Given the description of an element on the screen output the (x, y) to click on. 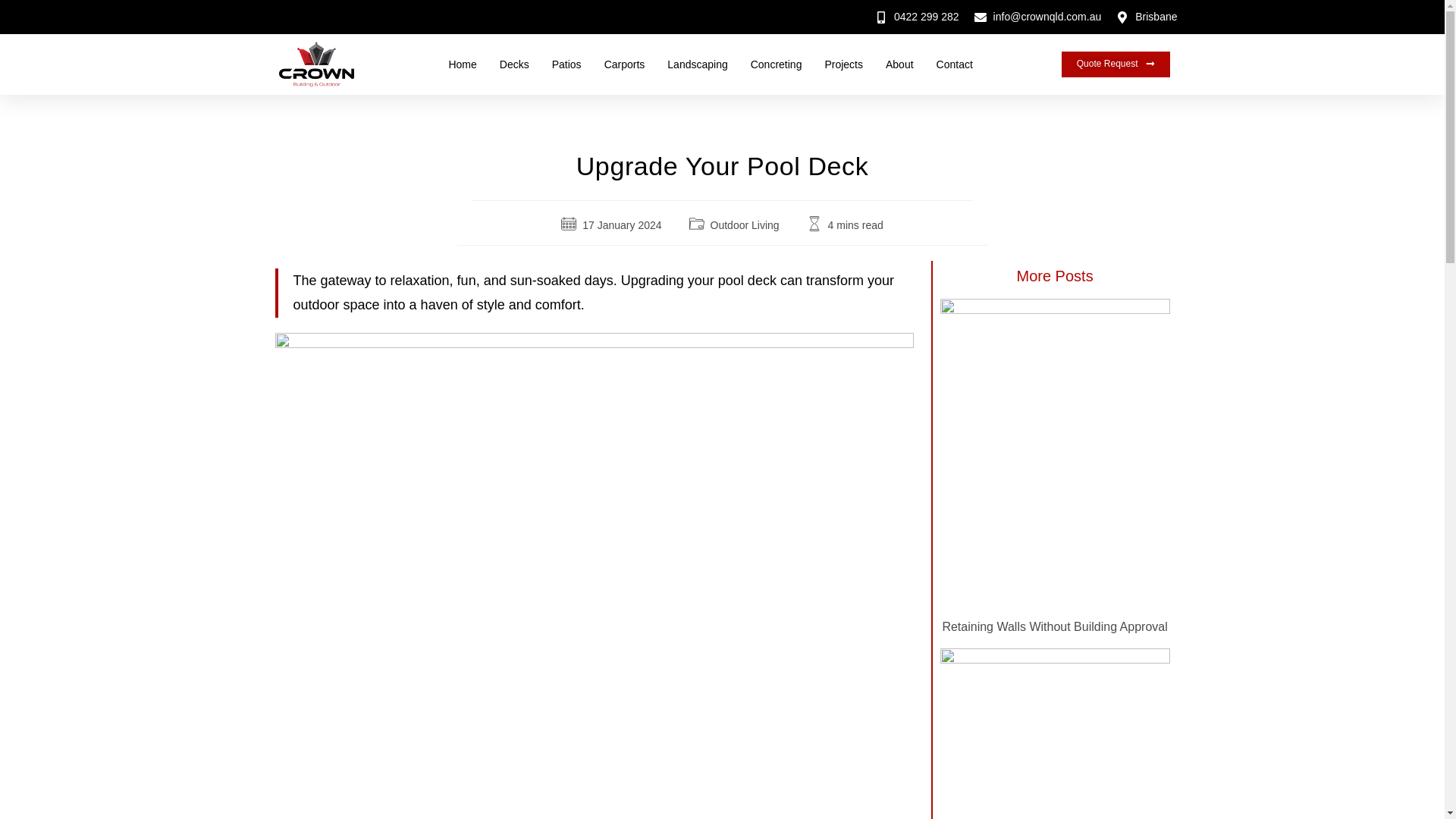
Quote Request (1115, 63)
0422 299 282 (917, 16)
Projects (843, 63)
Contact (954, 63)
Landscaping (696, 63)
Carports (624, 63)
Concreting (776, 63)
